Given the description of an element on the screen output the (x, y) to click on. 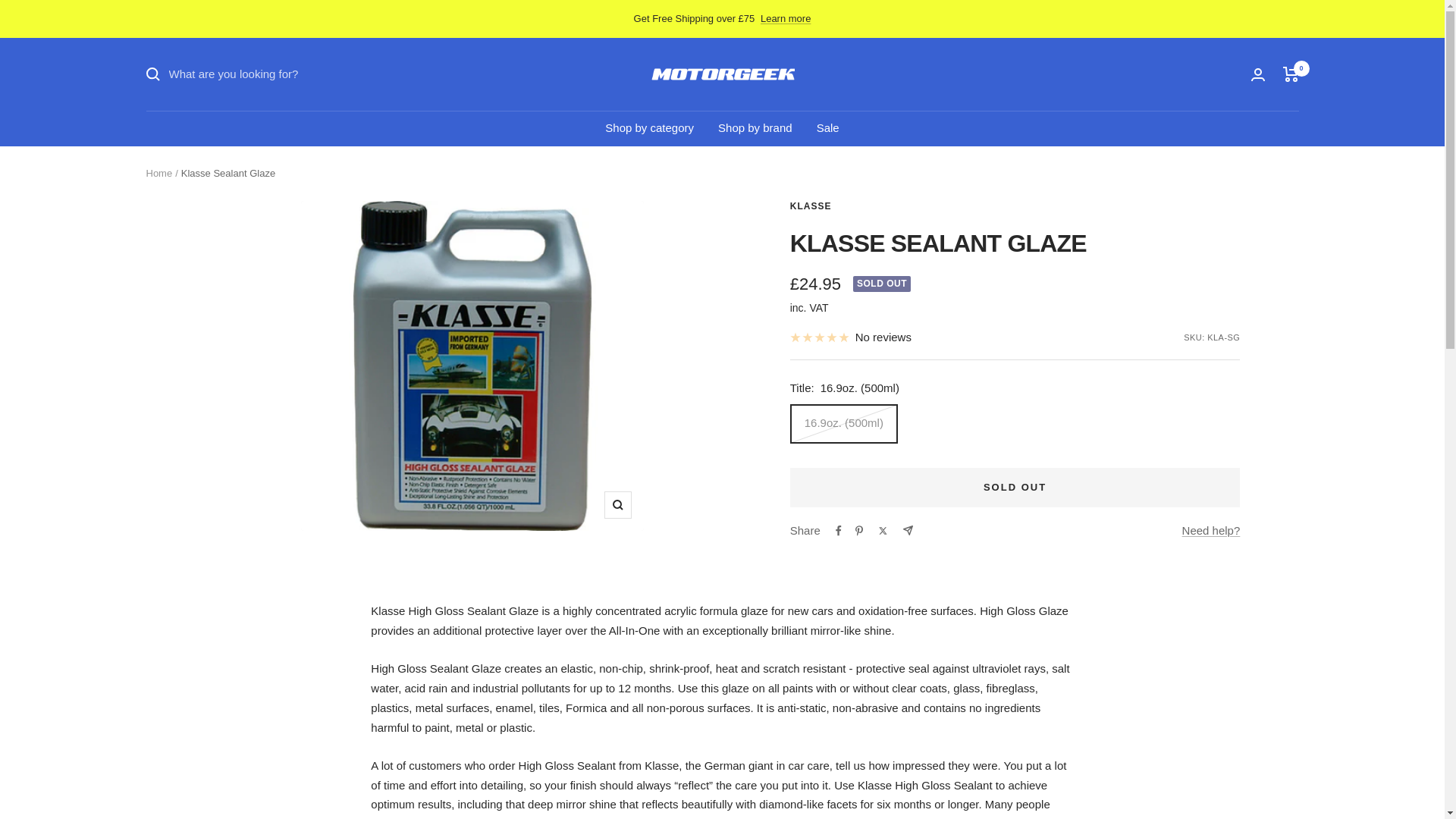
Motor-Geek (722, 74)
KLASSE (810, 205)
Zoom (617, 504)
Learn more (785, 18)
Shop by category (649, 127)
Sale (828, 127)
Need help? (1211, 530)
SOLD OUT (1015, 486)
No reviews (850, 337)
Shop by brand (754, 127)
Home (158, 173)
0 (1290, 73)
